Given the description of an element on the screen output the (x, y) to click on. 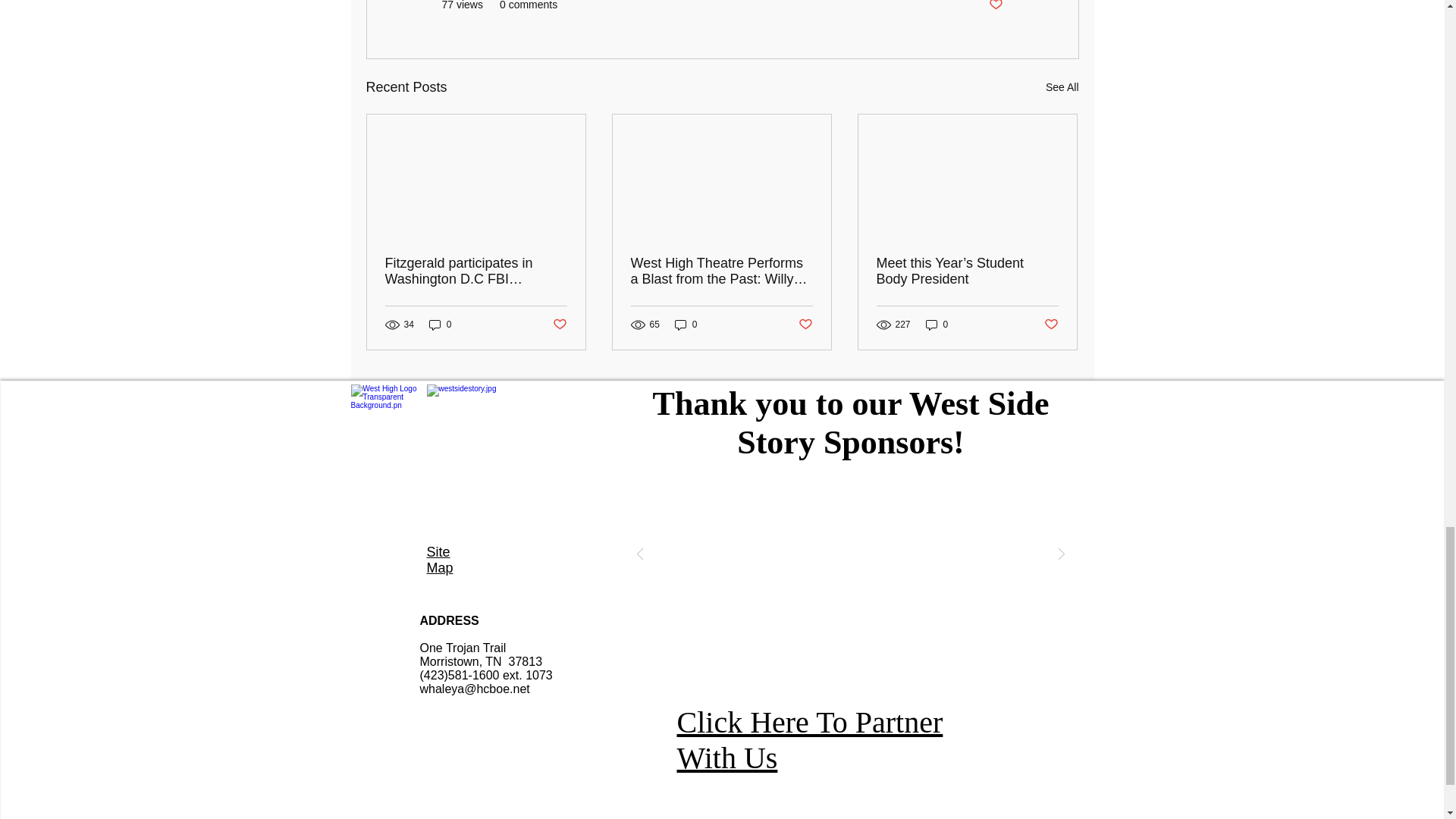
Post not marked as liked (995, 6)
